Given the description of an element on the screen output the (x, y) to click on. 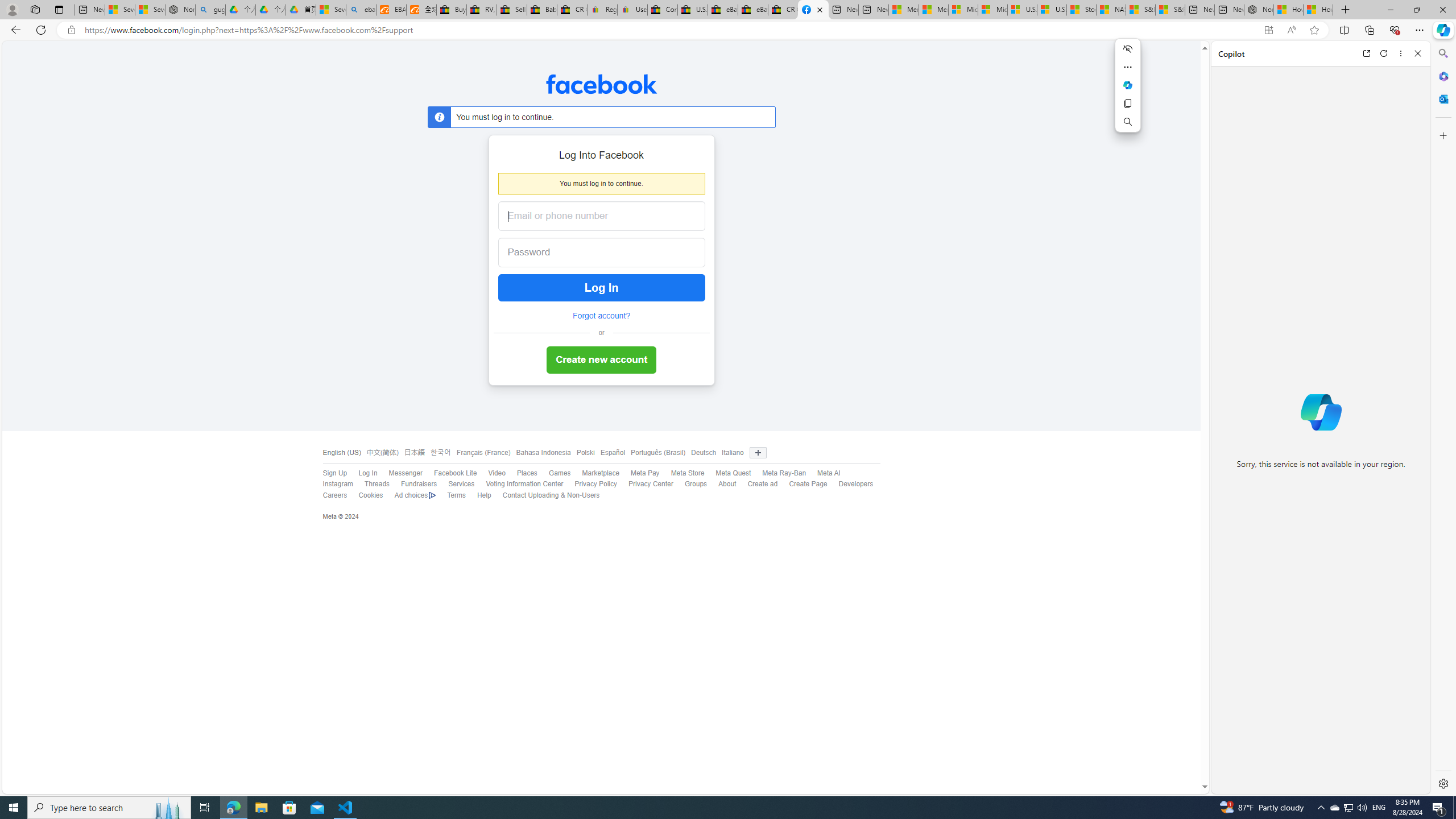
Password (592, 252)
Developers (850, 484)
Video (490, 473)
Log In (361, 473)
Services (461, 483)
Log In (600, 288)
Create ad (761, 483)
